Given the description of an element on the screen output the (x, y) to click on. 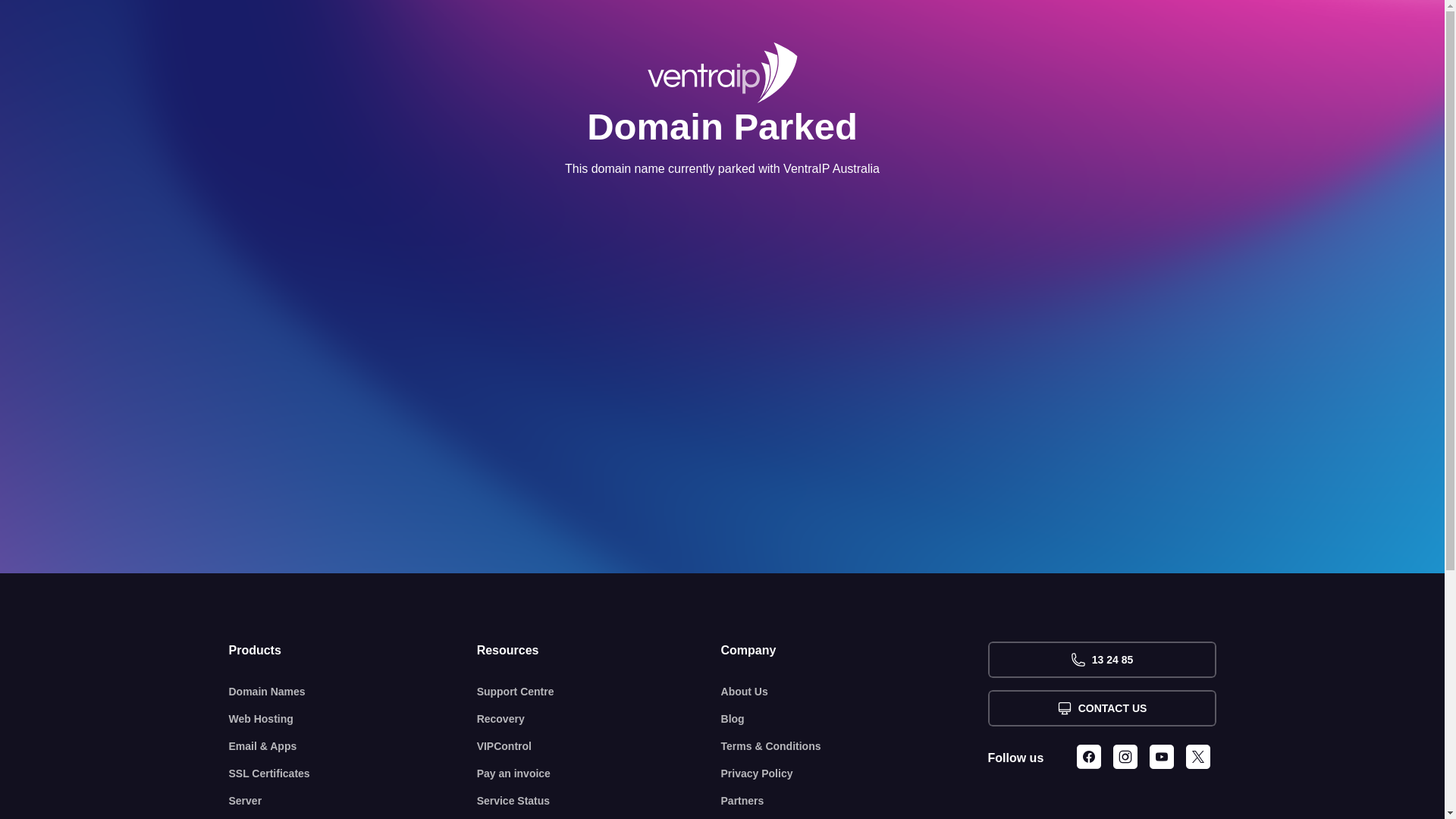
Support Centre Element type: text (598, 691)
VIPControl Element type: text (598, 745)
Server Element type: text (352, 800)
Partners Element type: text (854, 800)
About Us Element type: text (854, 691)
Pay an invoice Element type: text (598, 773)
Privacy Policy Element type: text (854, 773)
CONTACT US Element type: text (1101, 708)
Blog Element type: text (854, 718)
Web Hosting Element type: text (352, 718)
Recovery Element type: text (598, 718)
13 24 85 Element type: text (1101, 659)
Domain Names Element type: text (352, 691)
SSL Certificates Element type: text (352, 773)
Terms & Conditions Element type: text (854, 745)
Service Status Element type: text (598, 800)
Email & Apps Element type: text (352, 745)
